Given the description of an element on the screen output the (x, y) to click on. 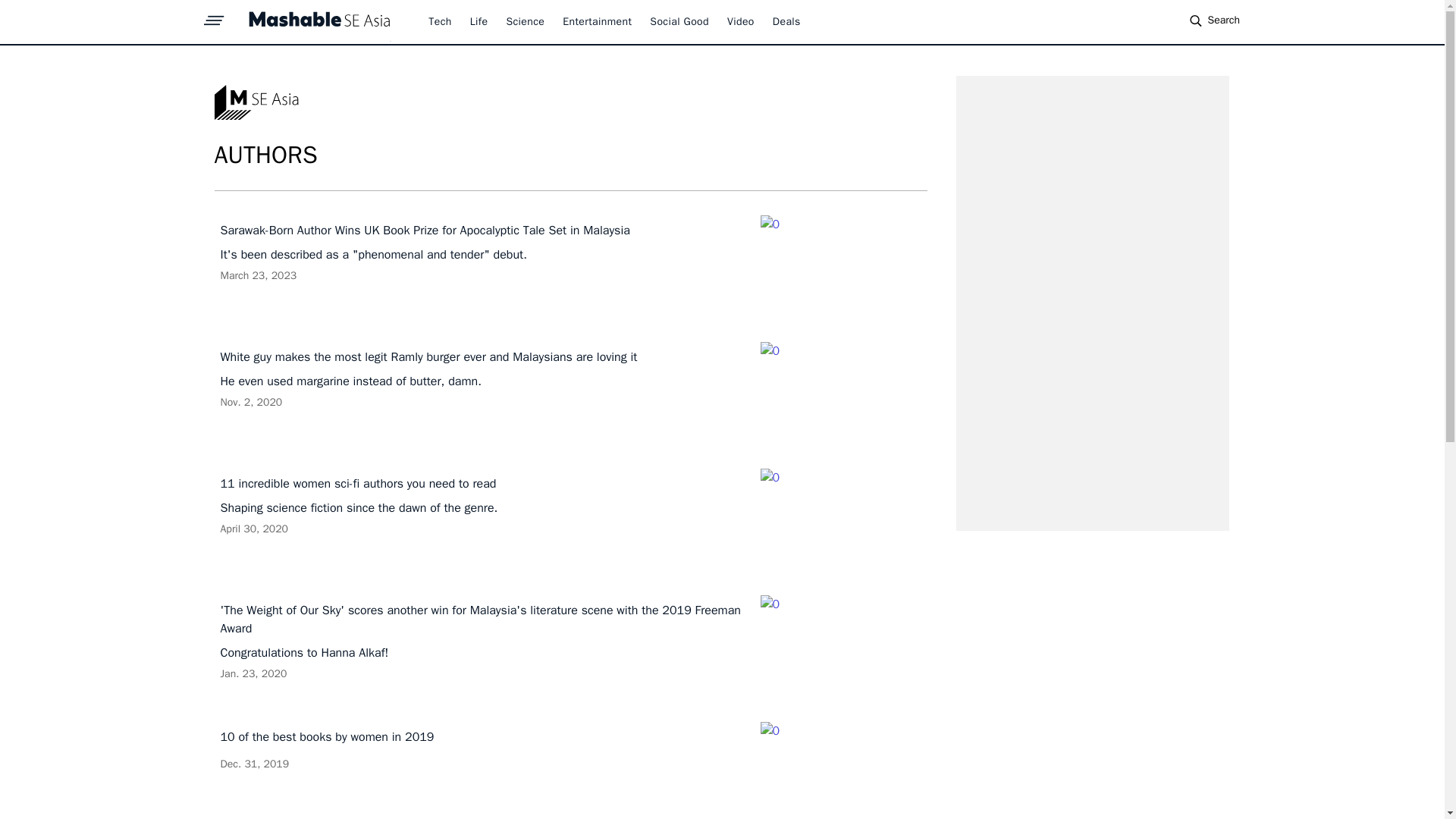
sprite-hamburger (213, 16)
Social Good (679, 21)
Entertainment (596, 21)
Deals (570, 770)
Science (786, 21)
Life (524, 21)
Tech (478, 21)
Video (439, 21)
